Given the description of an element on the screen output the (x, y) to click on. 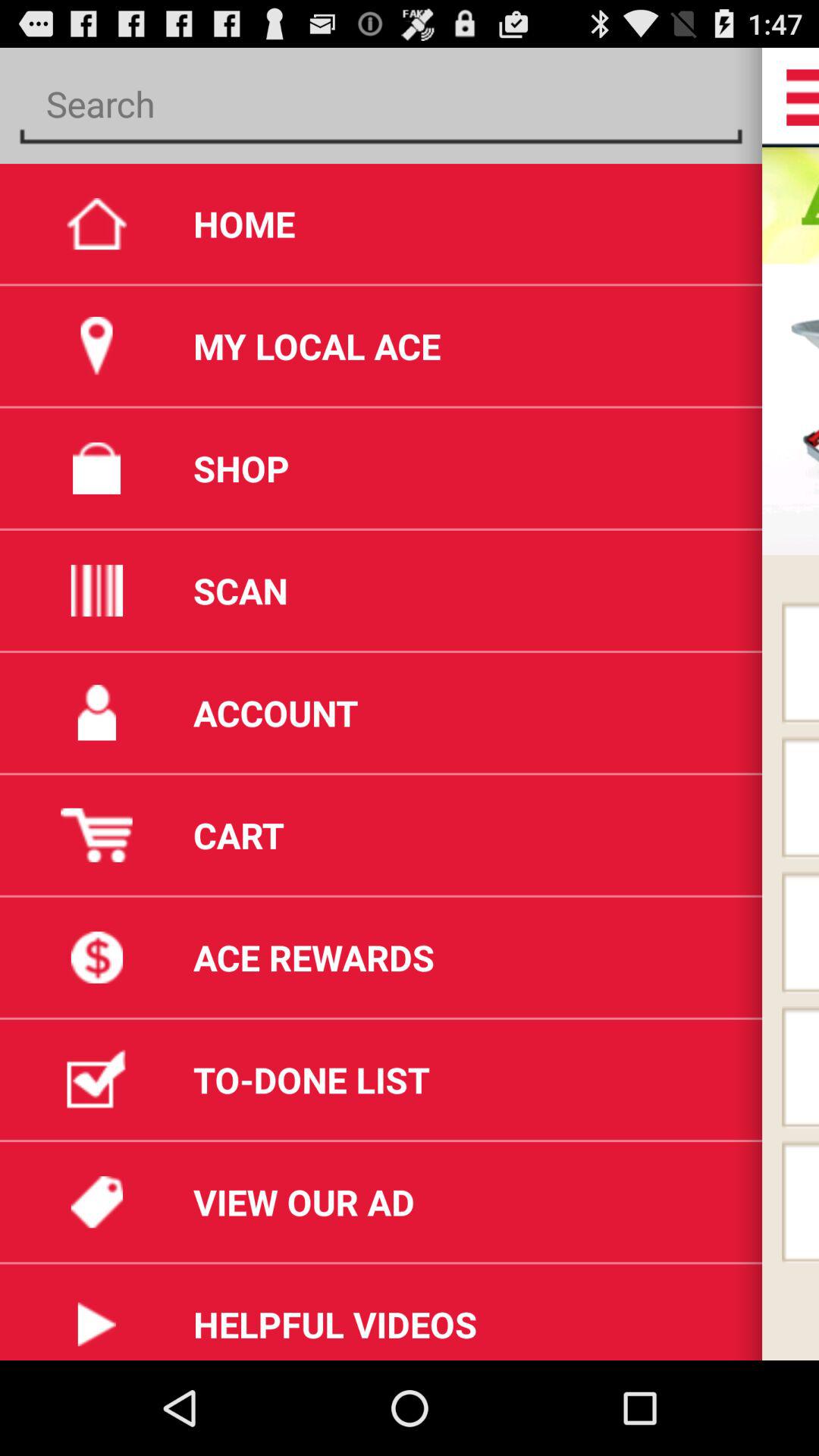
go to previous (380, 105)
